Given the description of an element on the screen output the (x, y) to click on. 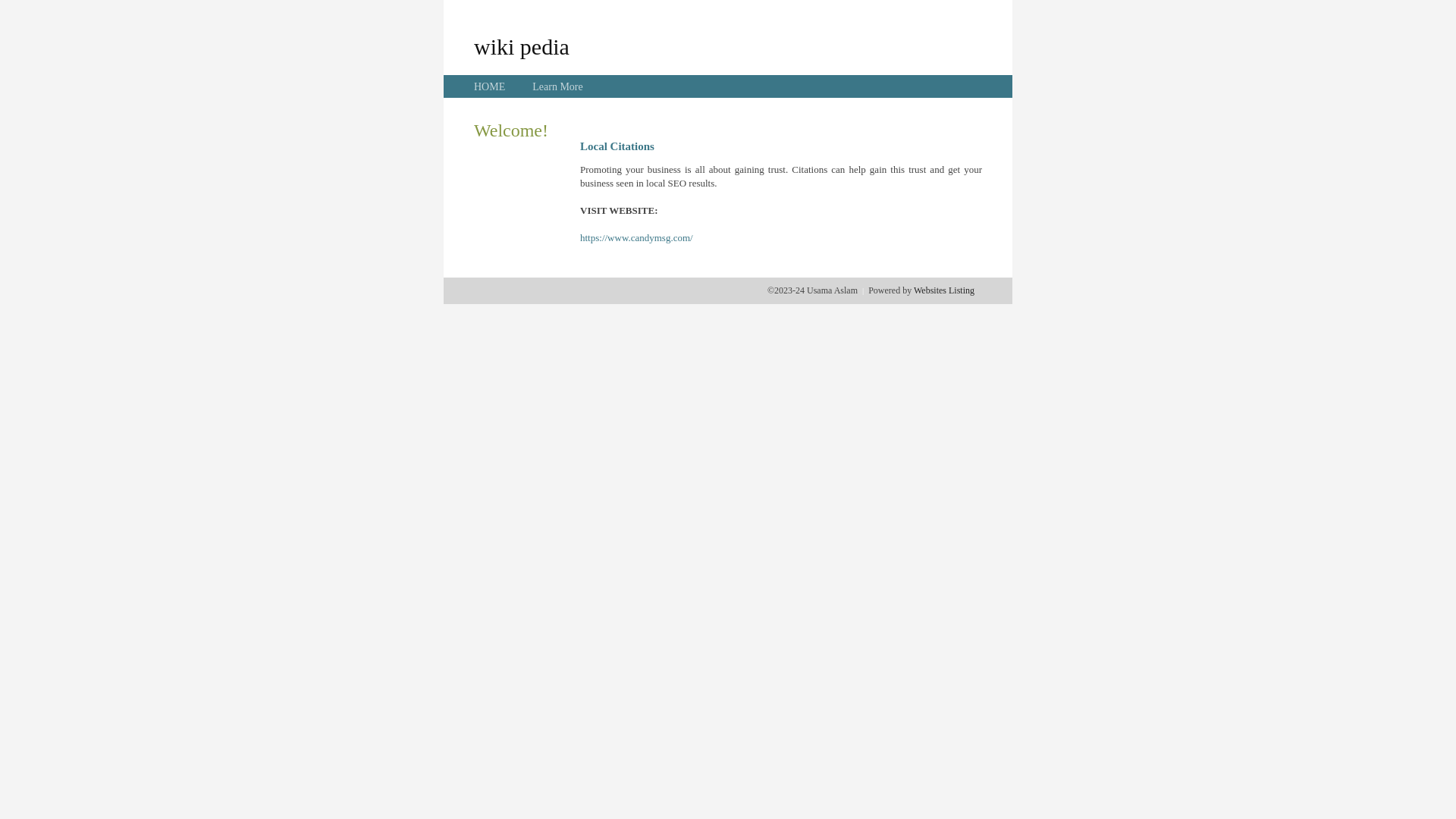
Learn More Element type: text (557, 86)
https://www.candymsg.com/ Element type: text (636, 237)
HOME Element type: text (489, 86)
wiki pedia Element type: text (521, 46)
Websites Listing Element type: text (943, 290)
